Given the description of an element on the screen output the (x, y) to click on. 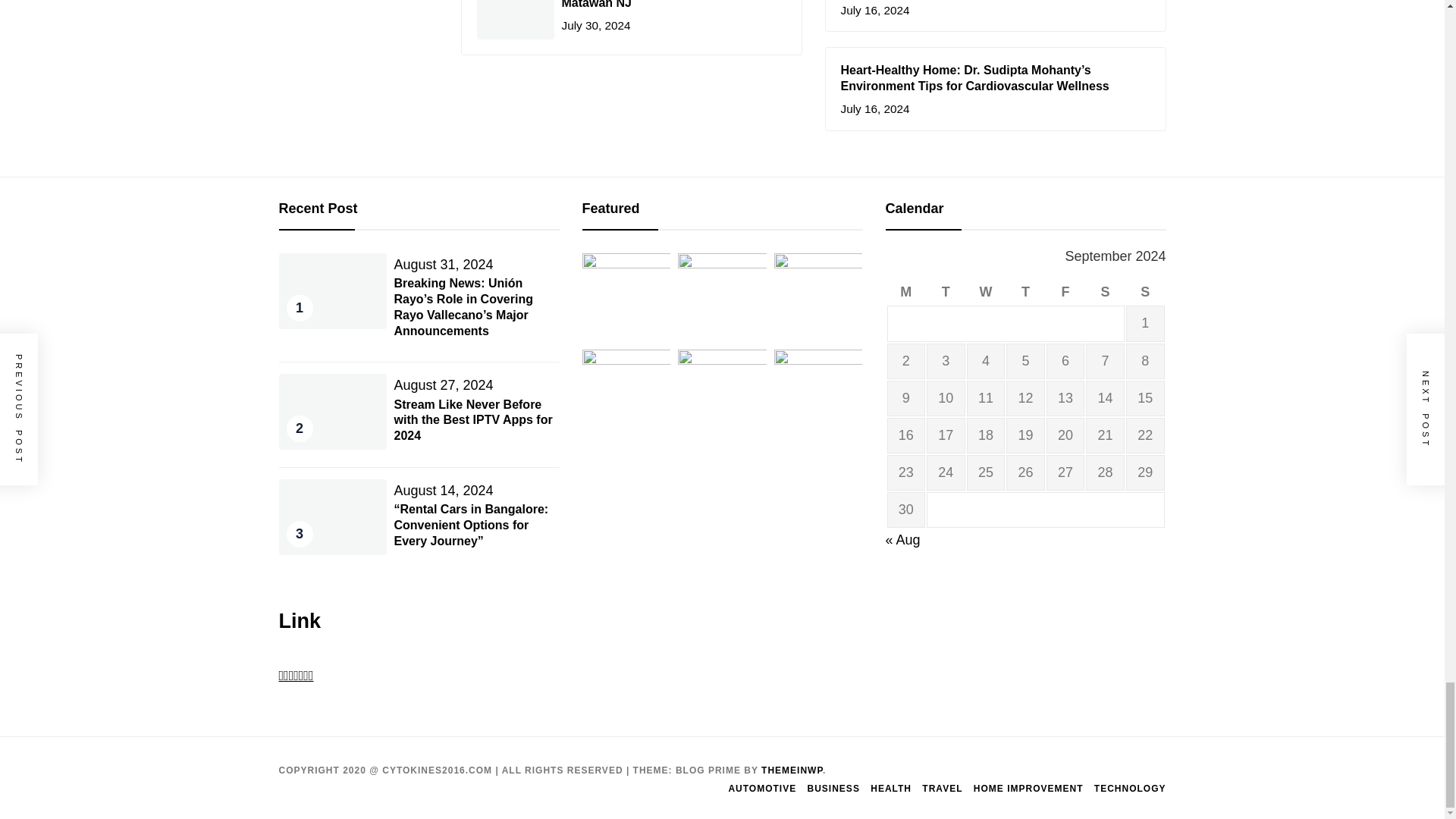
Thursday (1025, 291)
Sunday (1144, 291)
Saturday (1105, 291)
Monday (906, 291)
Tuesday (945, 291)
Friday (1065, 291)
Wednesday (986, 291)
